Given the description of an element on the screen output the (x, y) to click on. 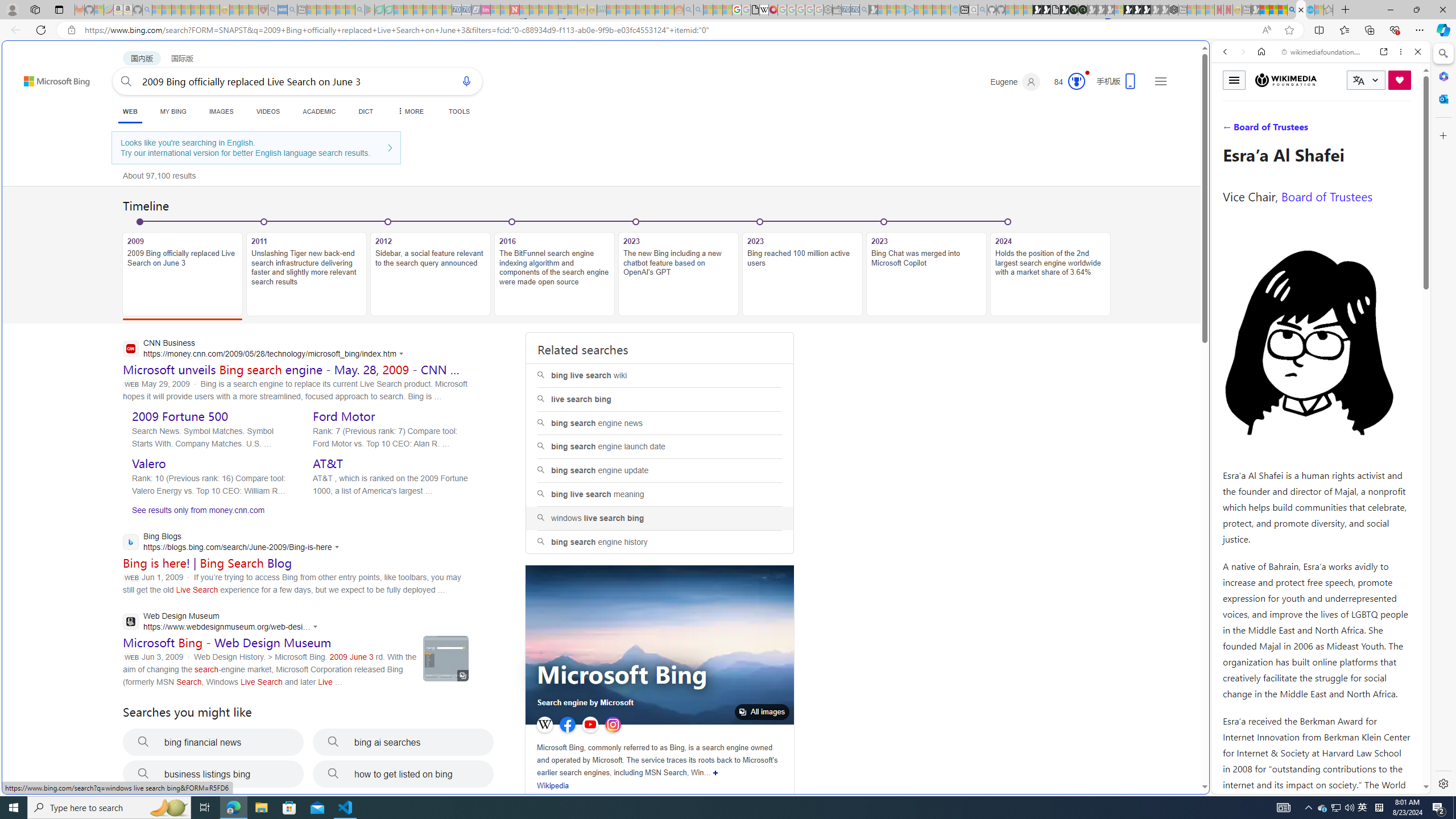
Eugene (1015, 81)
Bing Real Estate - Home sales and rental listings - Sleeping (863, 9)
Search the web (1326, 78)
Cheap Hotels - Save70.com - Sleeping (466, 9)
Search using voice (465, 80)
All images (659, 644)
